Given the description of an element on the screen output the (x, y) to click on. 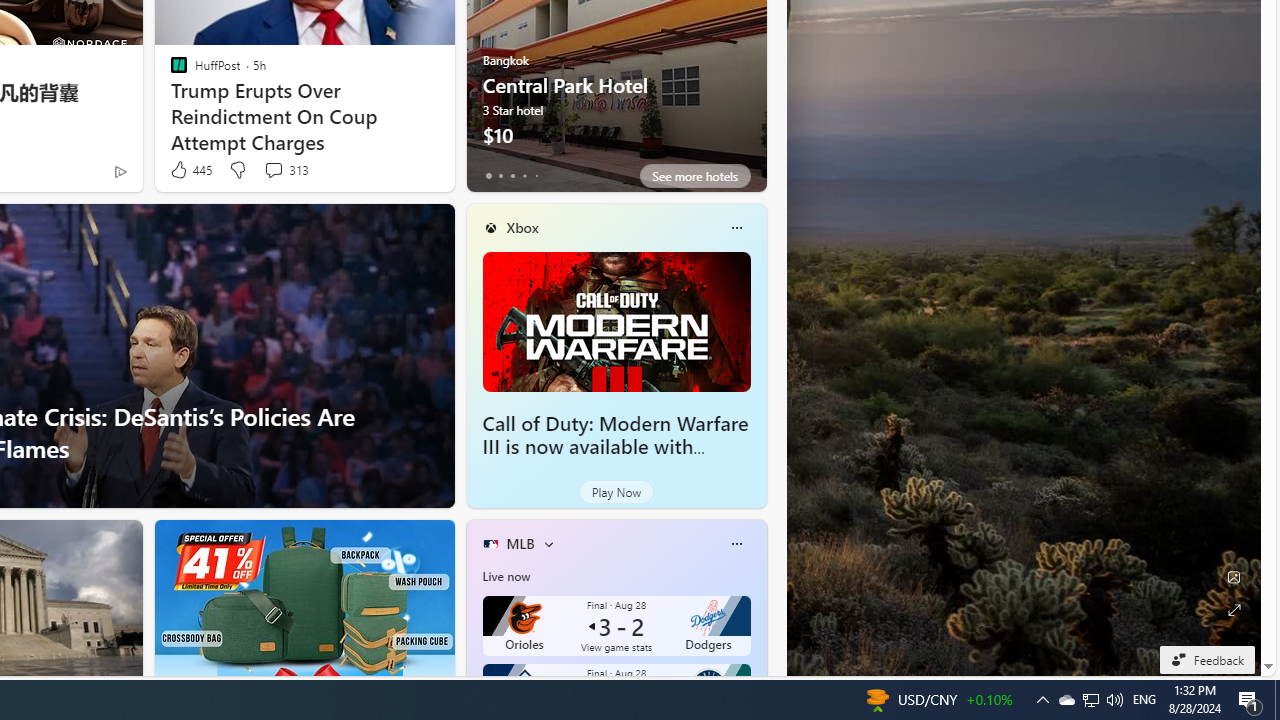
Dislike (237, 170)
tab-3 (524, 175)
tab-2 (511, 175)
Expand background (1233, 610)
Class: icon-img (736, 543)
tab-4 (535, 175)
tab-0 (488, 175)
More interests (548, 543)
View comments 313 Comment (273, 169)
Edit Background (1233, 577)
More options (736, 543)
See more hotels (694, 175)
MLB (520, 543)
